Given the description of an element on the screen output the (x, y) to click on. 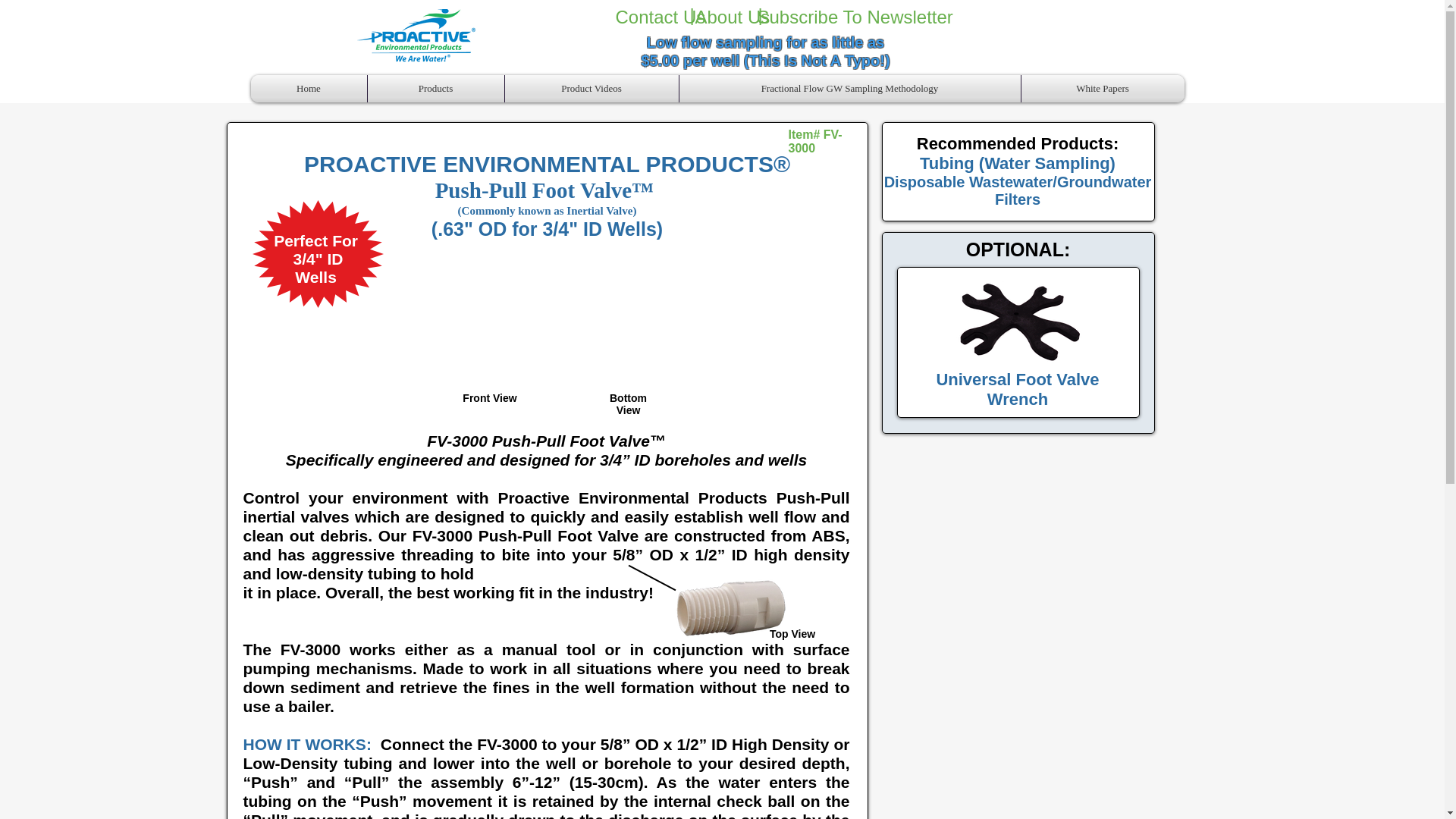
Subscribe To Newsletter (854, 17)
About Us (732, 17)
Contact Us (660, 17)
Home (308, 88)
Low flow sampling for as little as (764, 42)
